Given the description of an element on the screen output the (x, y) to click on. 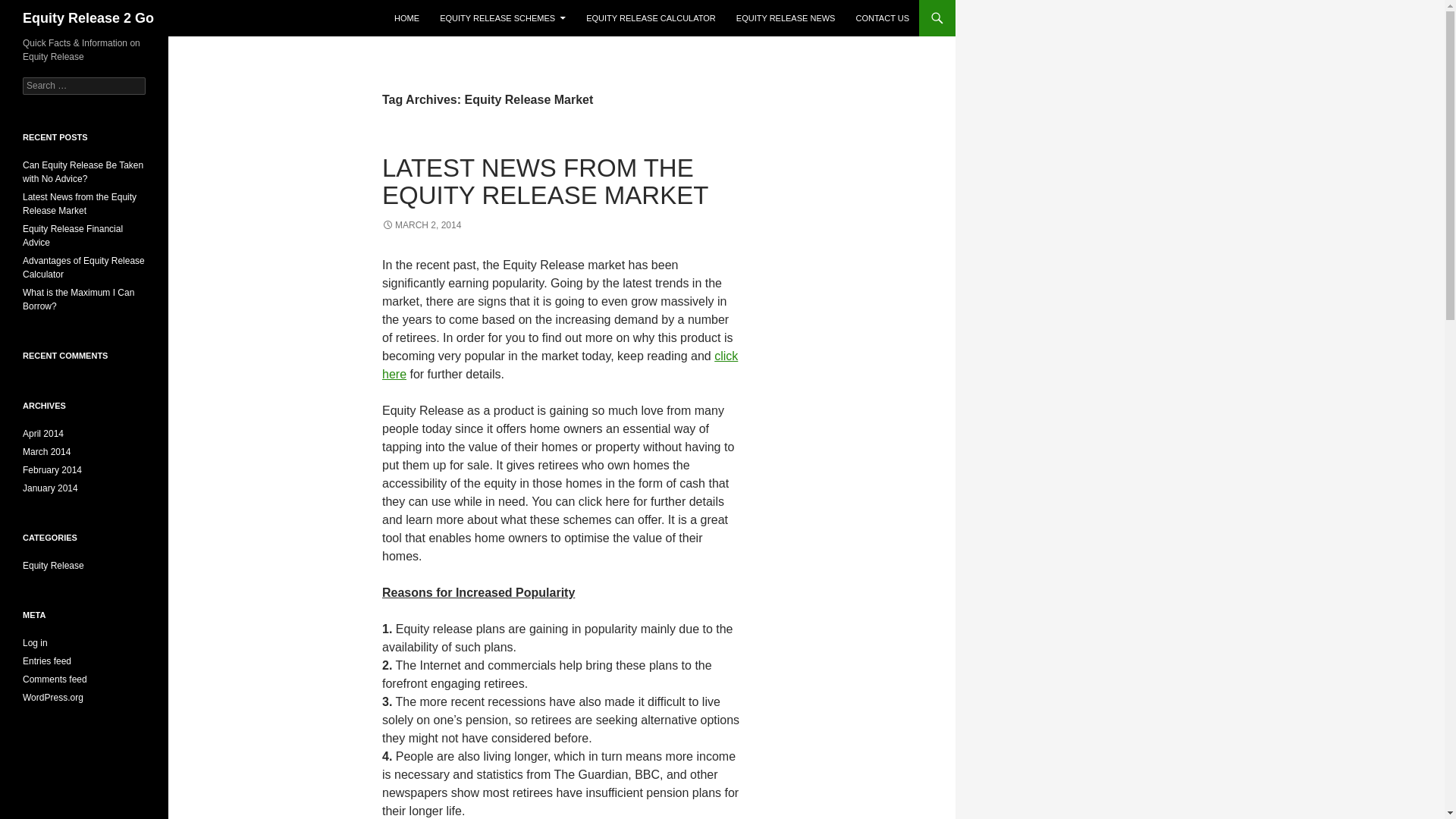
EQUITY RELEASE NEWS (785, 18)
Click Here (559, 364)
EQUITY RELEASE CALCULATOR (650, 18)
EQUITY RELEASE SCHEMES (502, 18)
CONTACT US (881, 18)
Equity Release 2 Go (88, 18)
HOME (406, 18)
click here (559, 364)
LATEST NEWS FROM THE EQUITY RELEASE MARKET (544, 181)
MARCH 2, 2014 (421, 225)
